Given the description of an element on the screen output the (x, y) to click on. 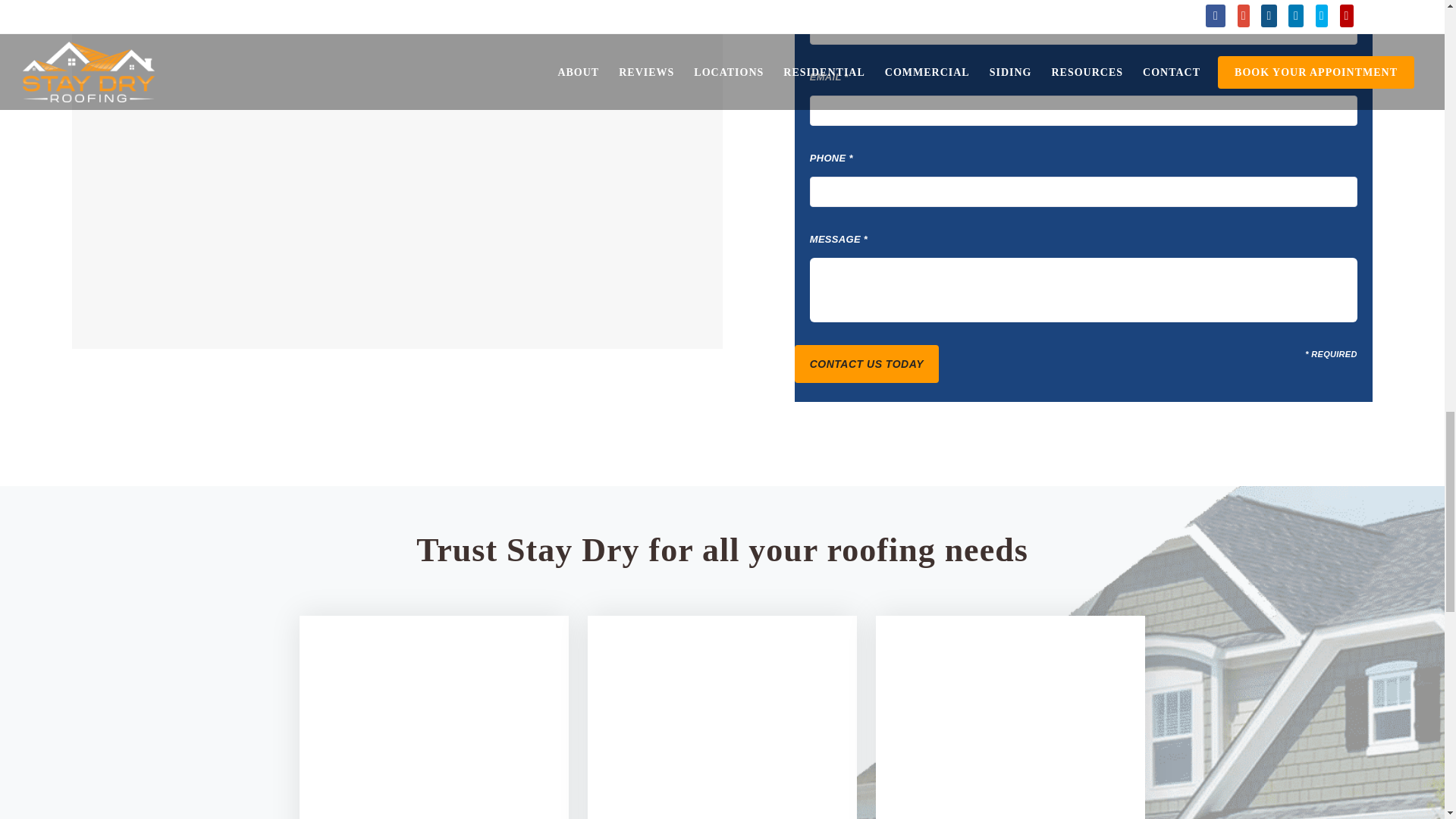
Roof Replacement Indianapolis (722, 705)
Roof Repair Indianapolis (434, 705)
Commercial Roofing Contractor Indianapolis (1010, 705)
Contact Us Today (866, 363)
